Given the description of an element on the screen output the (x, y) to click on. 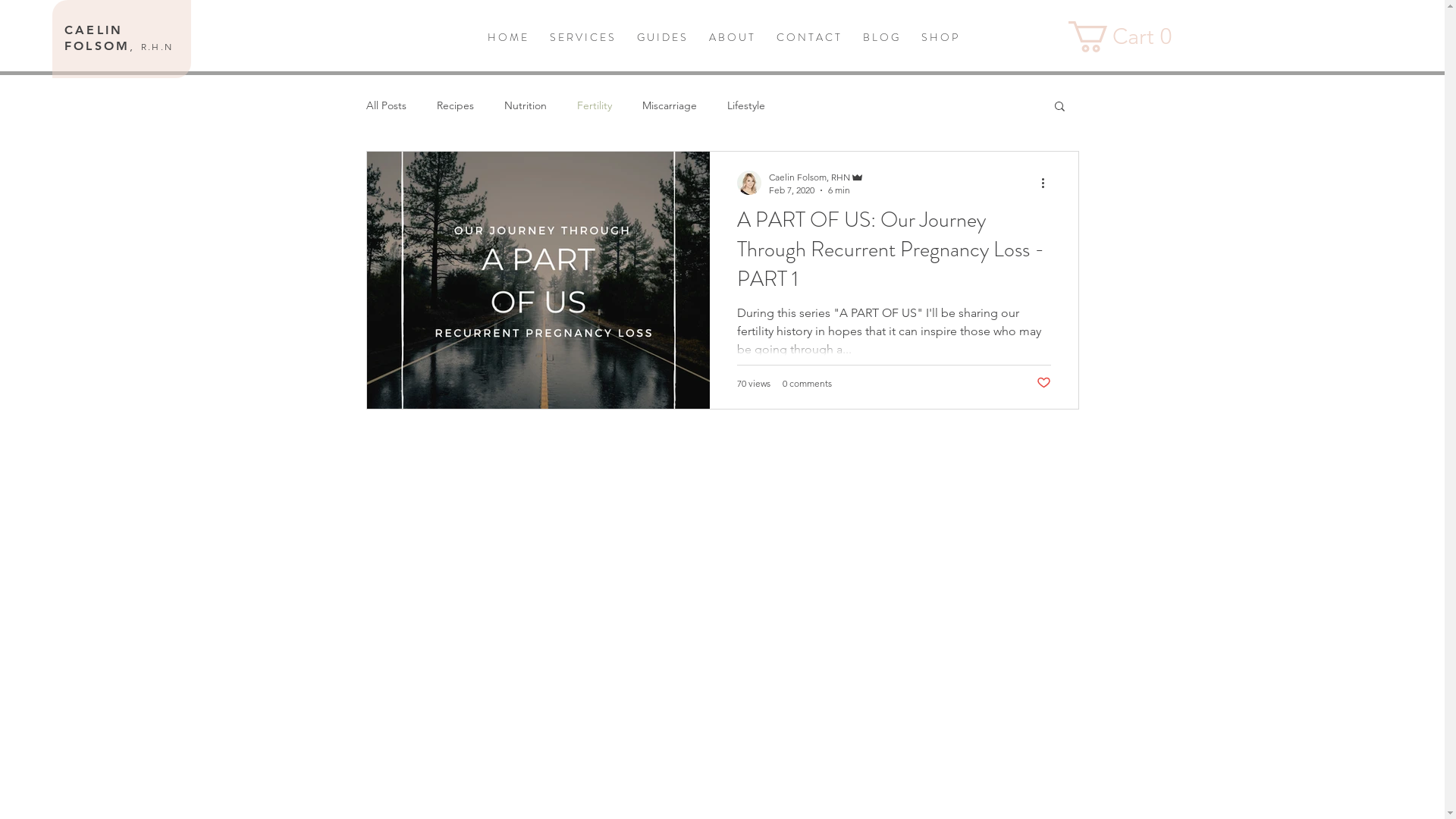
Miscarriage Element type: text (668, 105)
Recipes Element type: text (454, 105)
All Posts Element type: text (385, 105)
Caelin Folsom, RHN Element type: text (816, 176)
G U I D E S Element type: text (660, 37)
S E R V I C E S Element type: text (581, 37)
Lifestyle Element type: text (745, 105)
, Element type: text (134, 45)
Post not marked as liked Element type: text (1042, 383)
S H O P Element type: text (939, 37)
Nutrition Element type: text (524, 105)
B L O G Element type: text (879, 37)
C O N T A C T Element type: text (807, 37)
Fertility Element type: text (593, 105)
Cart
0 Element type: text (1125, 36)
CAELIN FOLSOM Element type: text (96, 37)
0 comments Element type: text (806, 383)
H O M E Element type: text (507, 37)
A B O U T Element type: text (731, 37)
R.H.N Element type: text (157, 46)
